Given the description of an element on the screen output the (x, y) to click on. 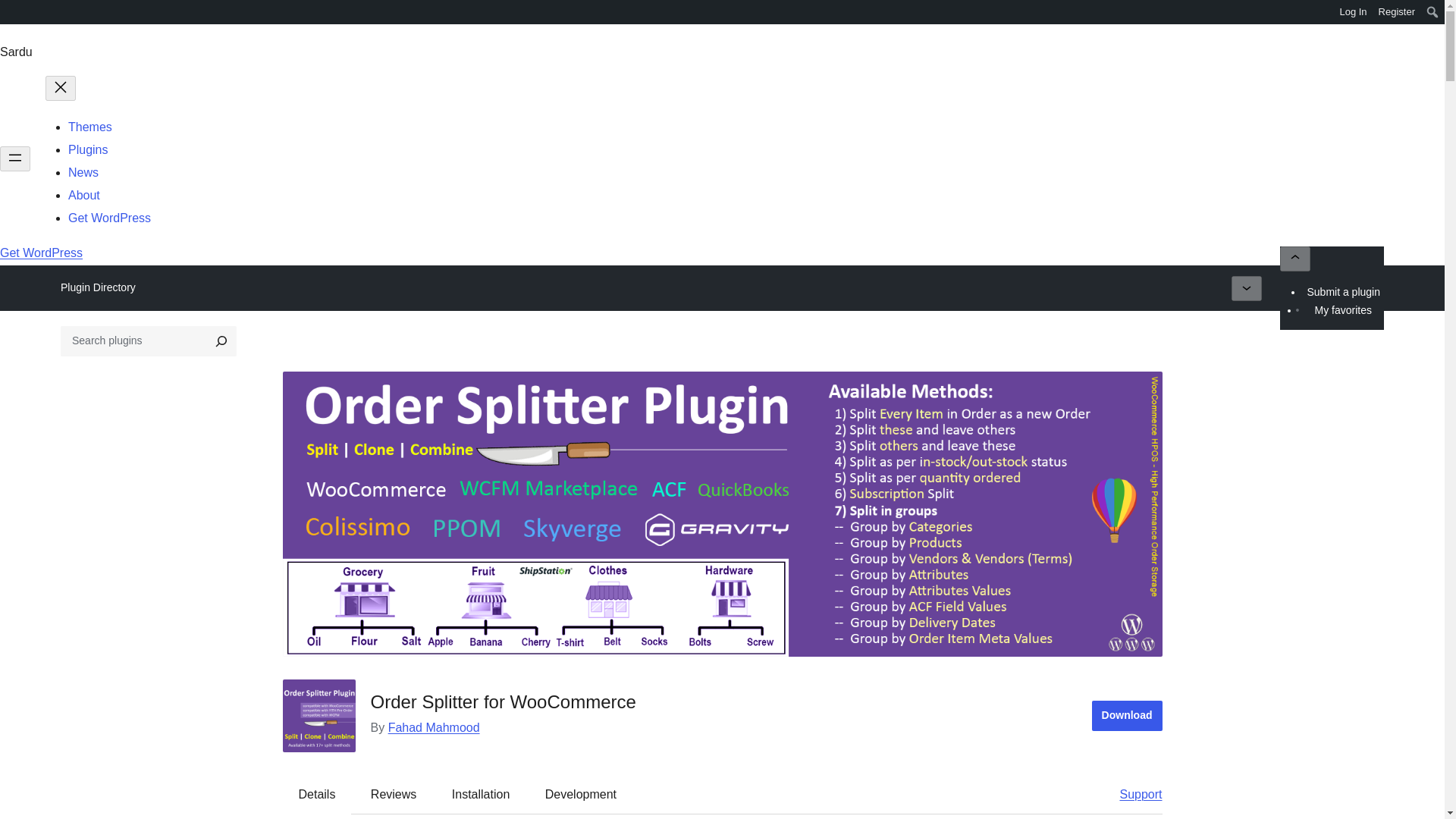
Get WordPress (41, 252)
Themes (90, 126)
About (84, 195)
WordPress.org (10, 10)
Reviews (392, 794)
Installation (480, 794)
Search (16, 13)
My favorites (1342, 310)
Plugin Directory (97, 287)
Development (580, 794)
Download (1126, 716)
Get WordPress (109, 217)
Register (1397, 12)
WordPress.org (10, 16)
Log In (1353, 12)
